Given the description of an element on the screen output the (x, y) to click on. 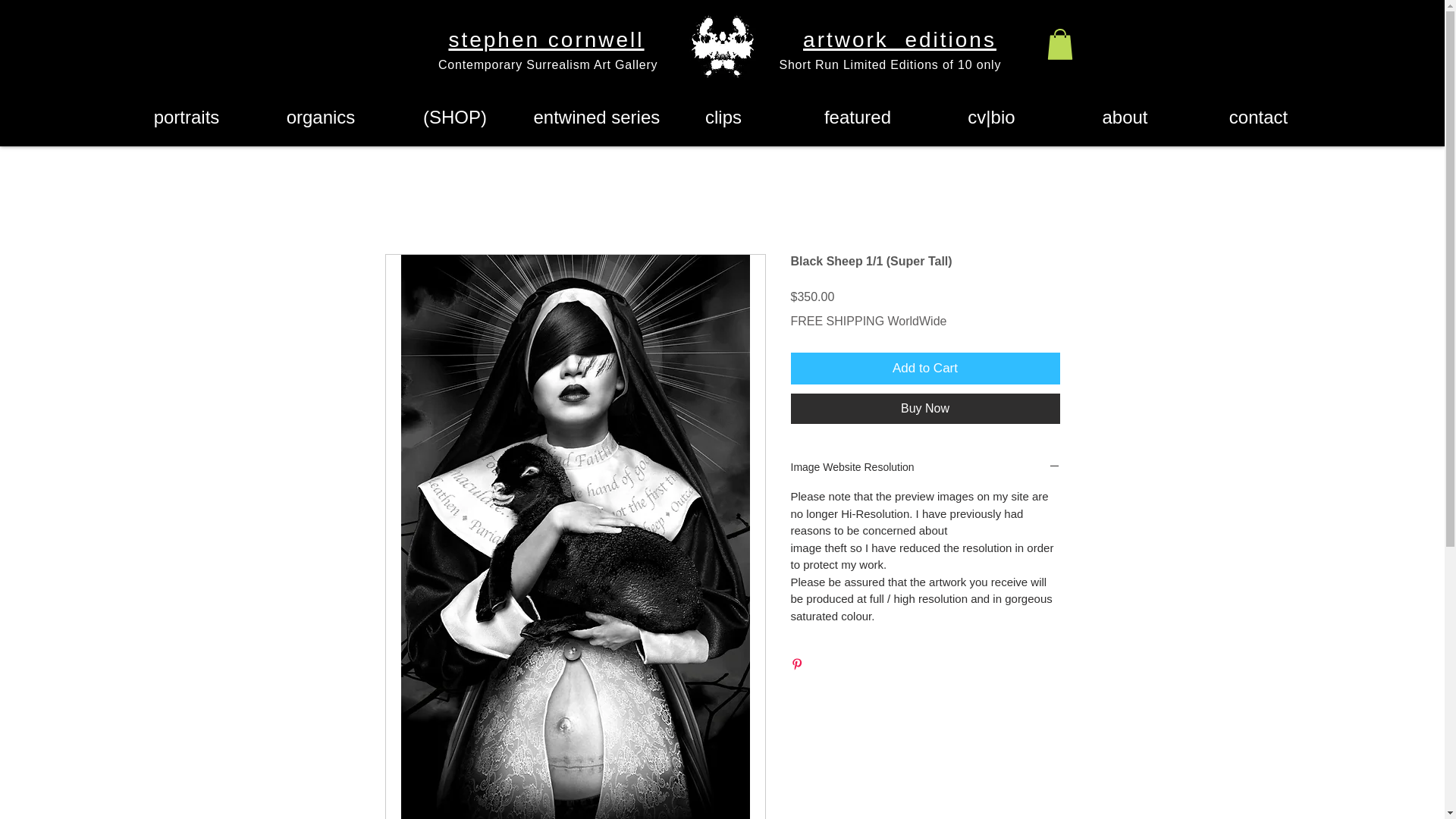
artwork  editions (899, 41)
about (1125, 117)
Add to Cart (924, 368)
Limited Edition Surreal art gallery (721, 46)
featured (857, 117)
Buy Now (924, 408)
stephen cornwell (545, 41)
organics (320, 117)
entwined series (588, 117)
portraits (186, 117)
contact (1258, 117)
FREE SHIPPING WorldWide (868, 321)
clips (723, 117)
Image Website Resolution (924, 467)
